Given the description of an element on the screen output the (x, y) to click on. 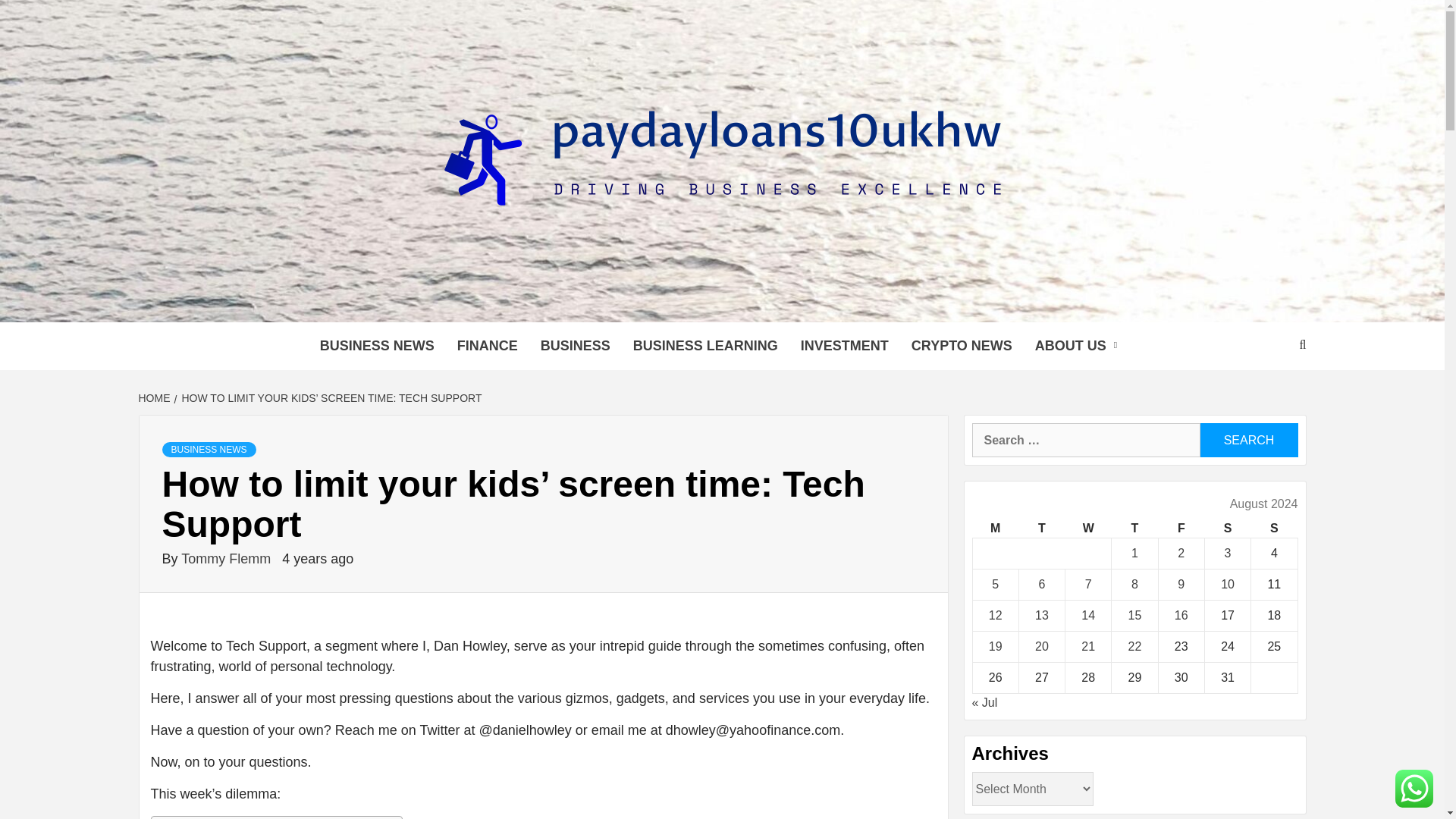
BUSINESS (575, 346)
Search (1248, 440)
CRYPTO NEWS (961, 346)
Monday (994, 528)
PAYDAYLOANS10UKHW (582, 303)
INVESTMENT (844, 346)
BUSINESS NEWS (376, 346)
BUSINESS LEARNING (705, 346)
Thursday (1134, 528)
FINANCE (487, 346)
